Given the description of an element on the screen output the (x, y) to click on. 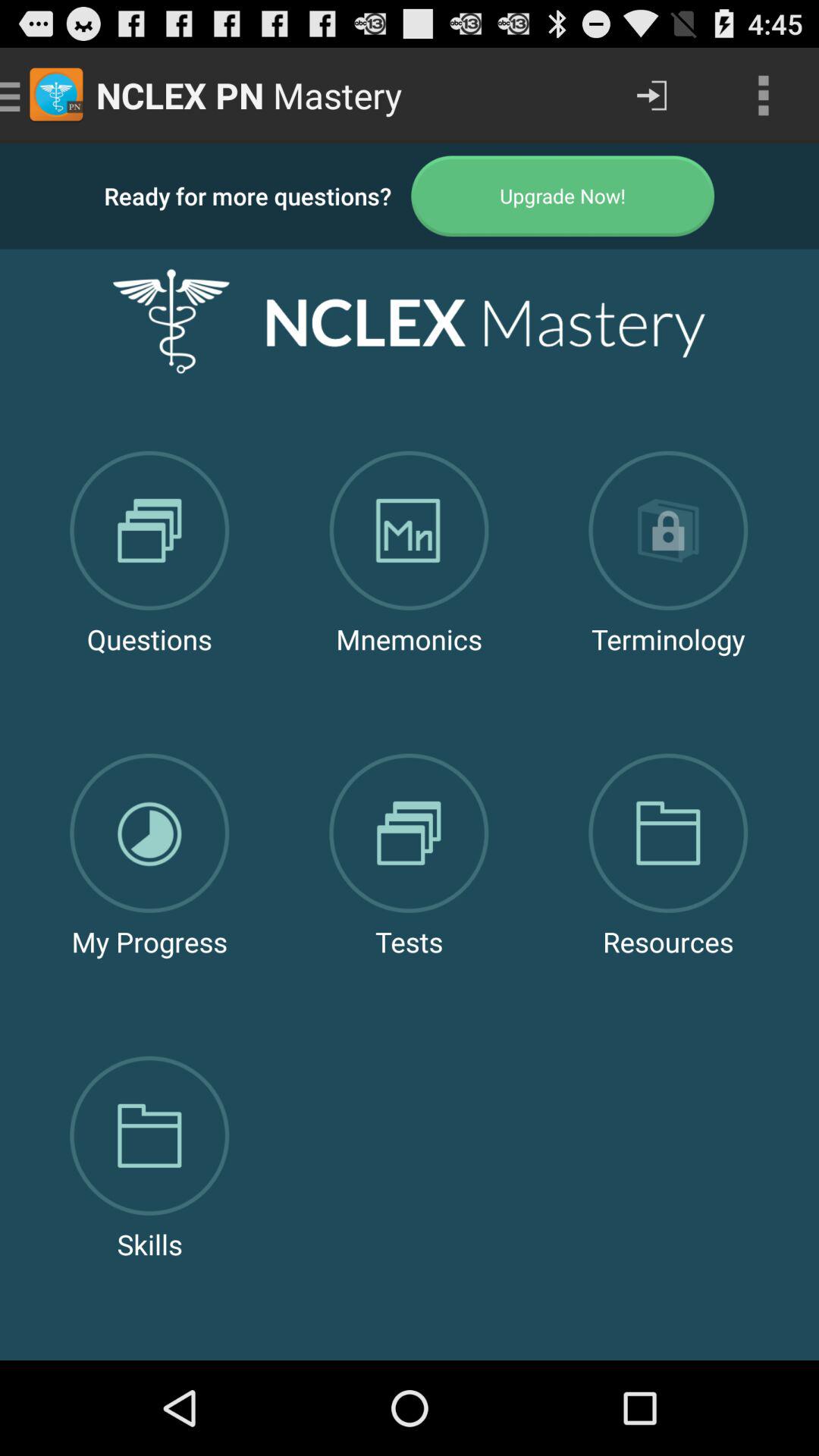
upgrade app (562, 195)
